Given the description of an element on the screen output the (x, y) to click on. 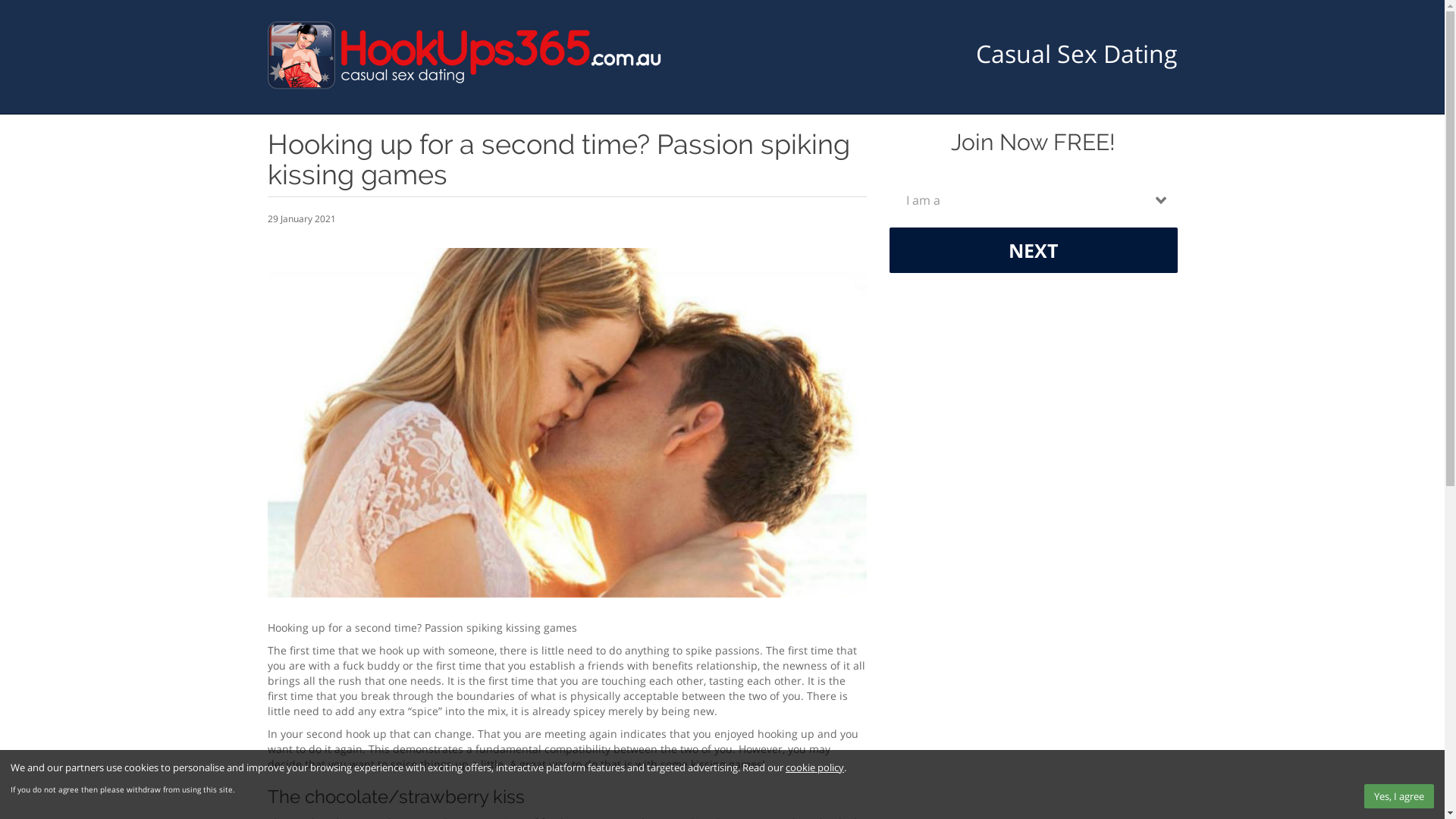
NEXT Element type: text (1032, 250)
cookie policy Element type: text (814, 767)
Skip to main content Element type: text (0, 0)
Yes, I agree Element type: text (1399, 796)
